Given the description of an element on the screen output the (x, y) to click on. 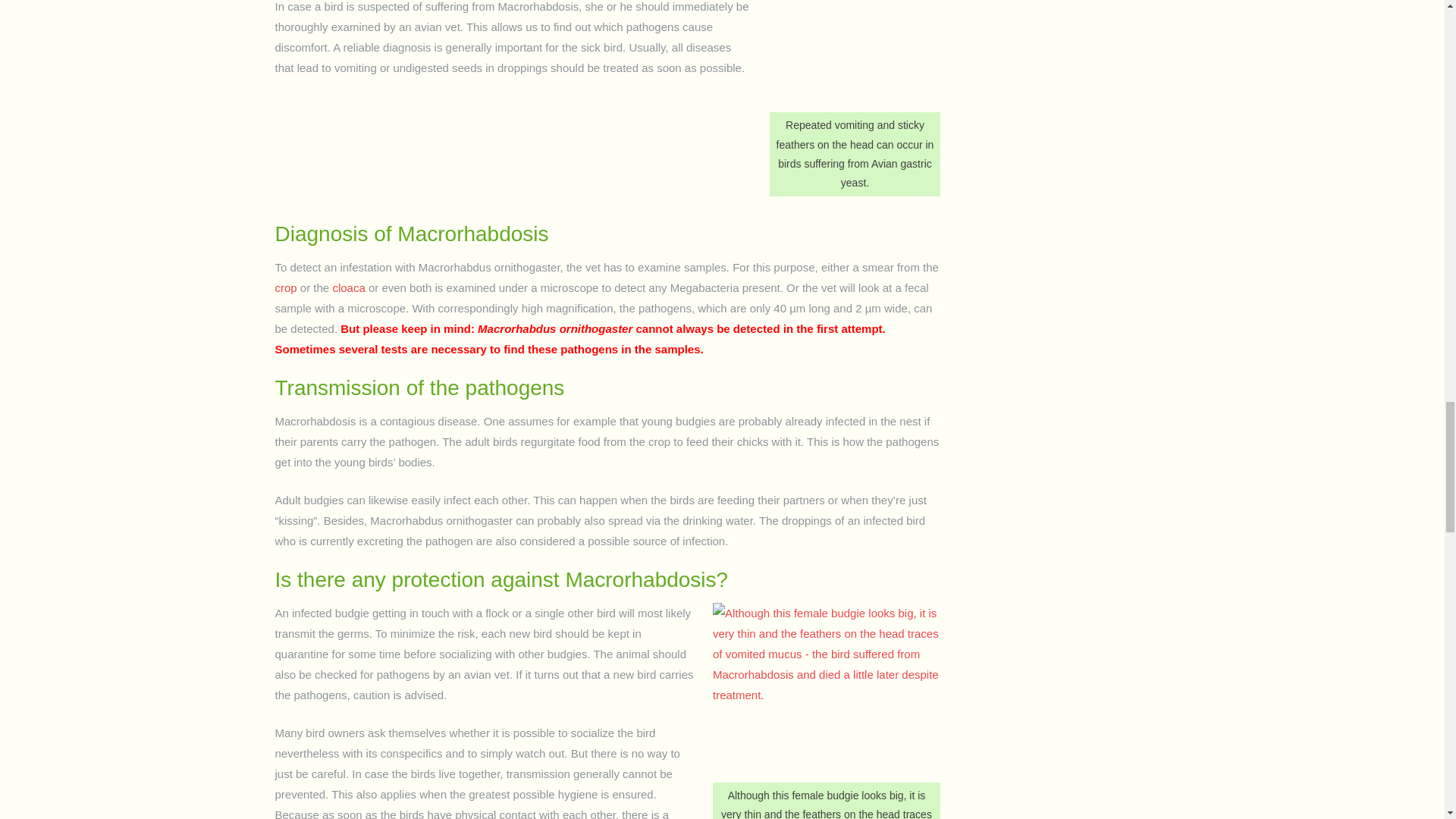
crop (286, 287)
cloaca (348, 287)
